Given the description of an element on the screen output the (x, y) to click on. 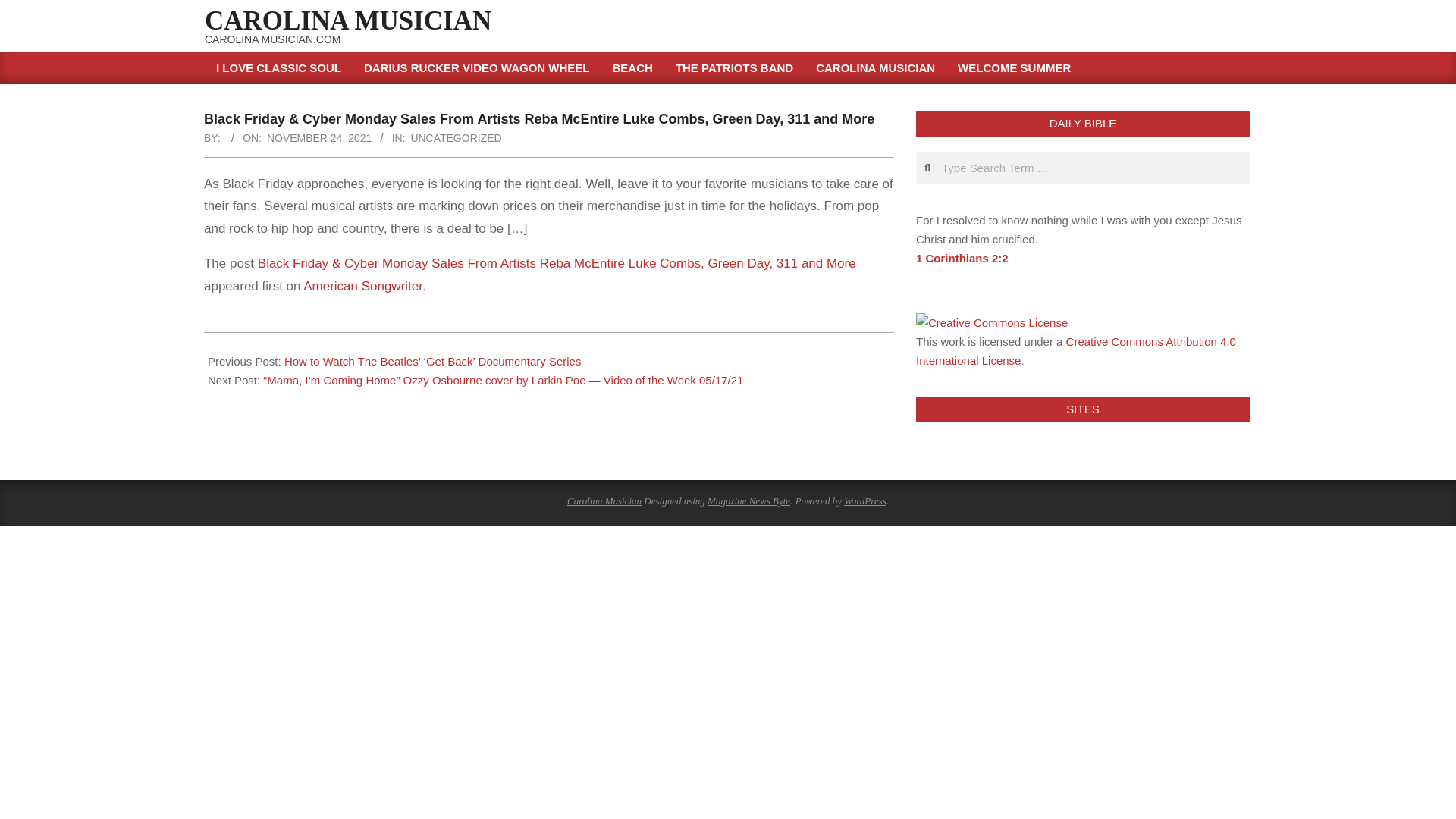
1 Corinthians 2:2 (962, 257)
CAROLINA MUSICIAN (348, 20)
American Songwriter (362, 286)
DARIUS RUCKER VIDEO WAGON WHEEL (476, 68)
THE PATRIOTS BAND (734, 68)
Magazine News Byte WordPress Theme (748, 500)
Carolina Musician (604, 500)
I LOVE CLASSIC SOUL (278, 68)
Creative Commons Attribution 4.0 International License (1075, 350)
Magazine News Byte (748, 500)
